Given the description of an element on the screen output the (x, y) to click on. 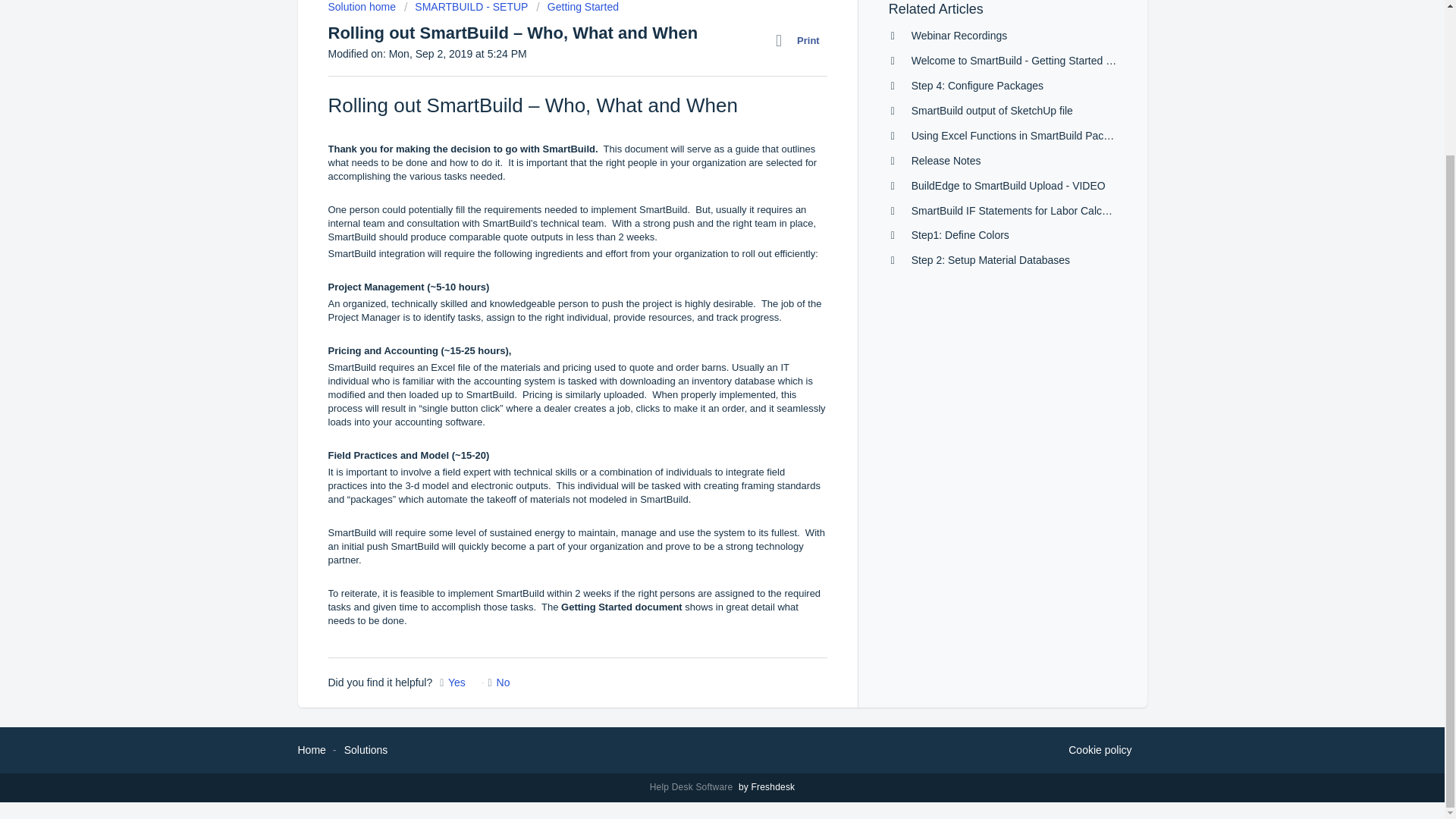
SMARTBUILD - SETUP (466, 6)
Print this Article (801, 40)
Step1: Define Colors (960, 234)
Webinar Recordings (959, 35)
Step 4: Configure Packages (977, 85)
Why we love Cookies (1099, 750)
SmartBuild output of SketchUp file (992, 110)
Home (310, 749)
Cookie policy (1099, 750)
Welcome to SmartBuild - Getting Started Document! (1034, 60)
